Given the description of an element on the screen output the (x, y) to click on. 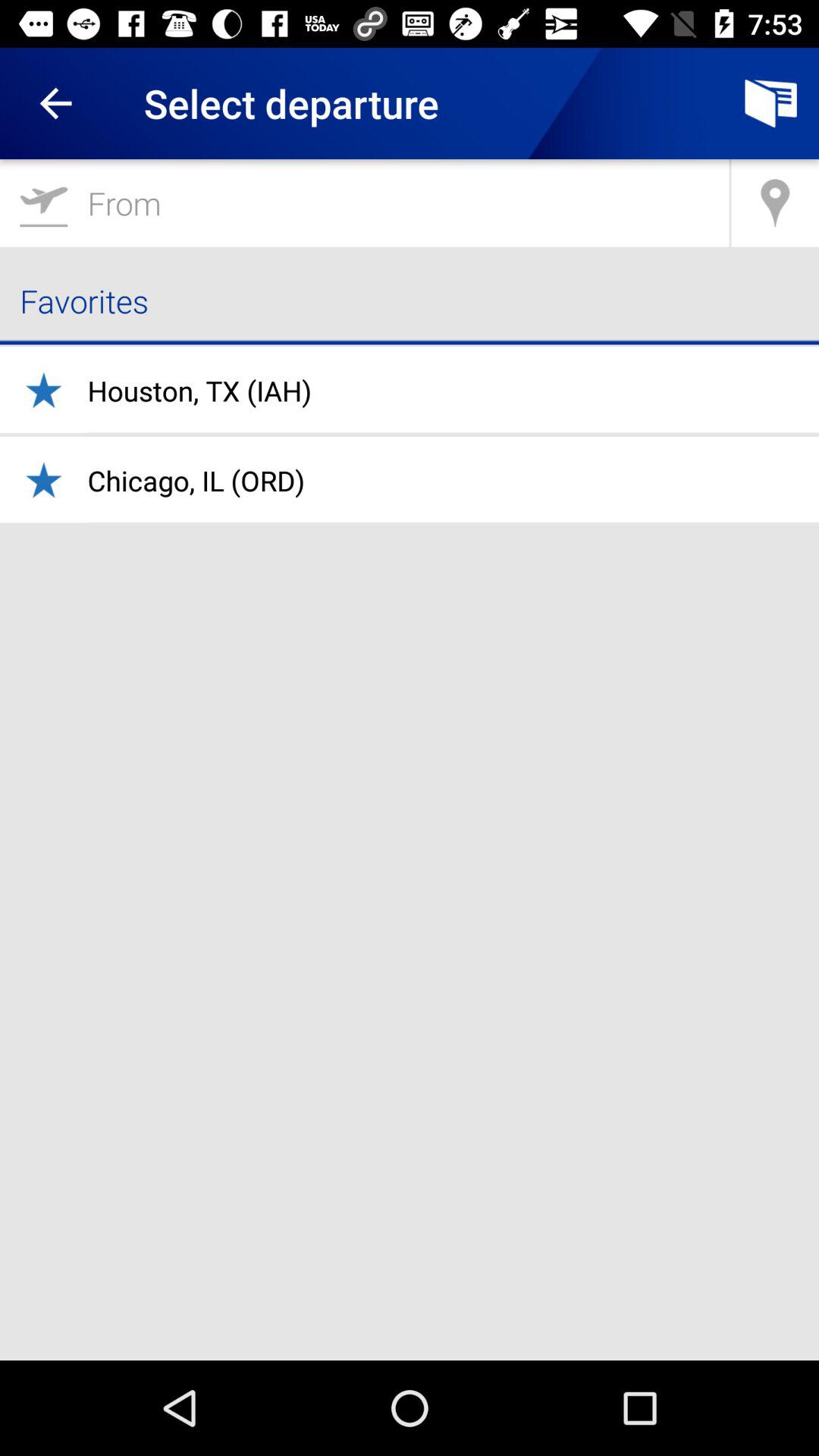
flip until the houston, tx (iah) icon (199, 390)
